Given the description of an element on the screen output the (x, y) to click on. 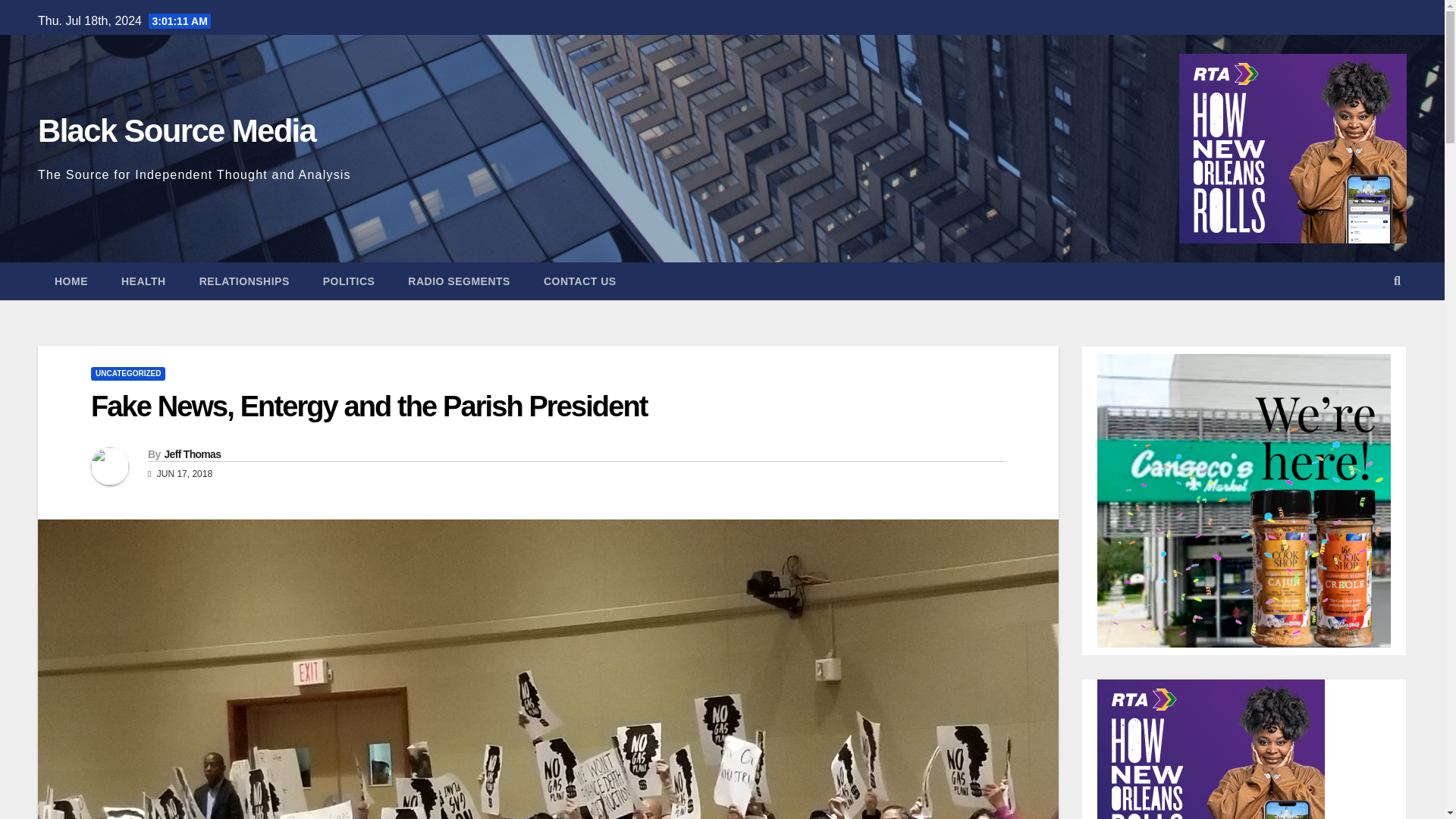
HOME (70, 281)
Permalink to: Fake News, Entergy and the Parish President (368, 406)
CONTACT US (580, 281)
Fake News, Entergy and the Parish President (368, 406)
Black Source Media (176, 130)
Jeff Thomas (192, 453)
RELATIONSHIPS (244, 281)
Home (70, 281)
HEALTH (143, 281)
UNCATEGORIZED (127, 373)
RADIO SEGMENTS (459, 281)
POLITICS (348, 281)
